Given the description of an element on the screen output the (x, y) to click on. 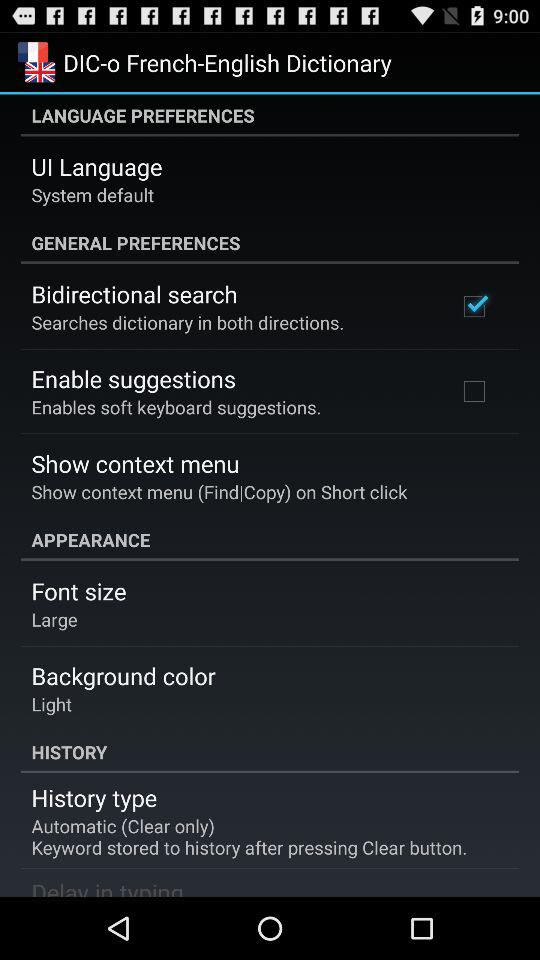
tap the automatic clear only app (249, 836)
